Given the description of an element on the screen output the (x, y) to click on. 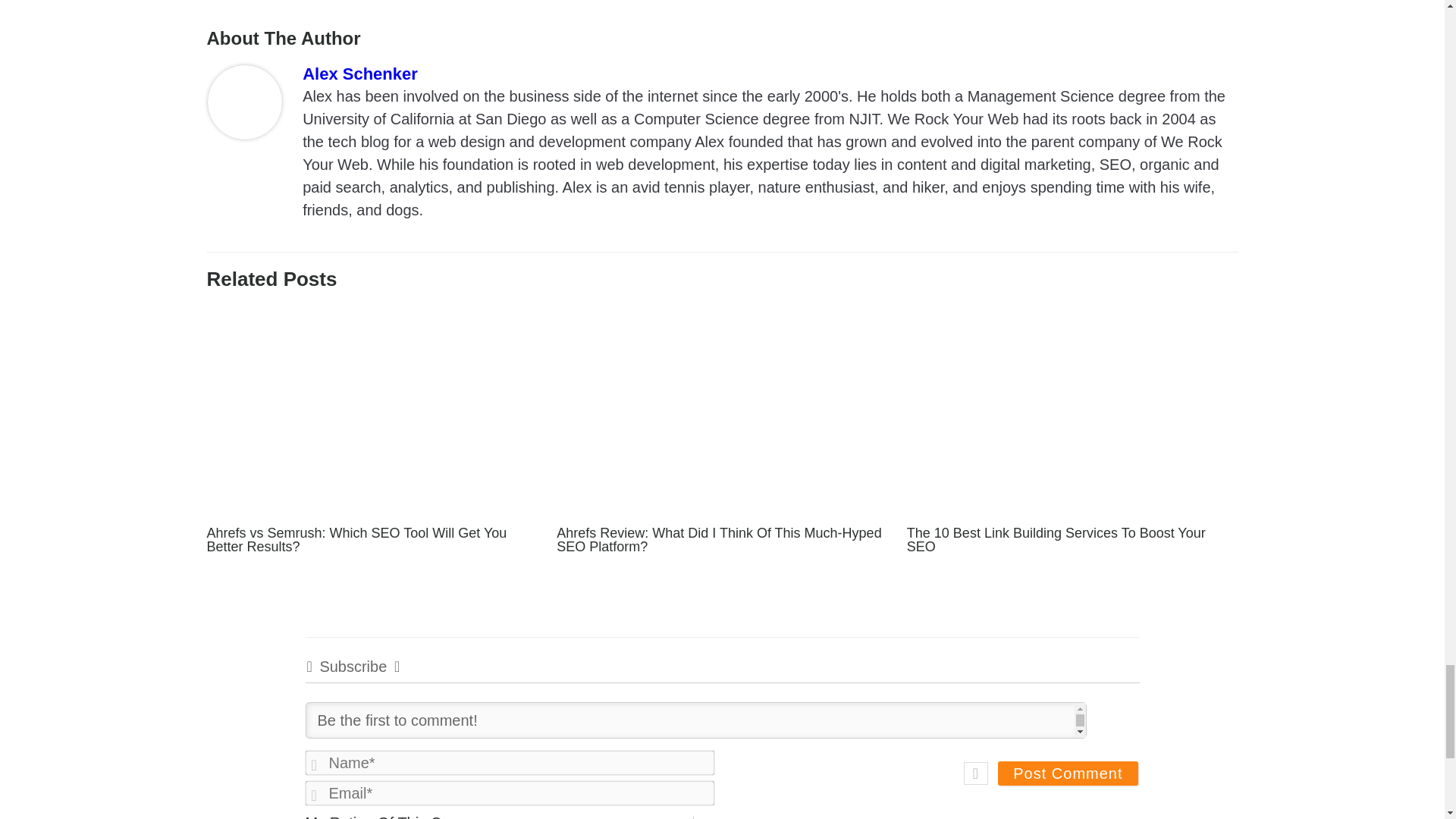
Post Comment (1067, 773)
